Given the description of an element on the screen output the (x, y) to click on. 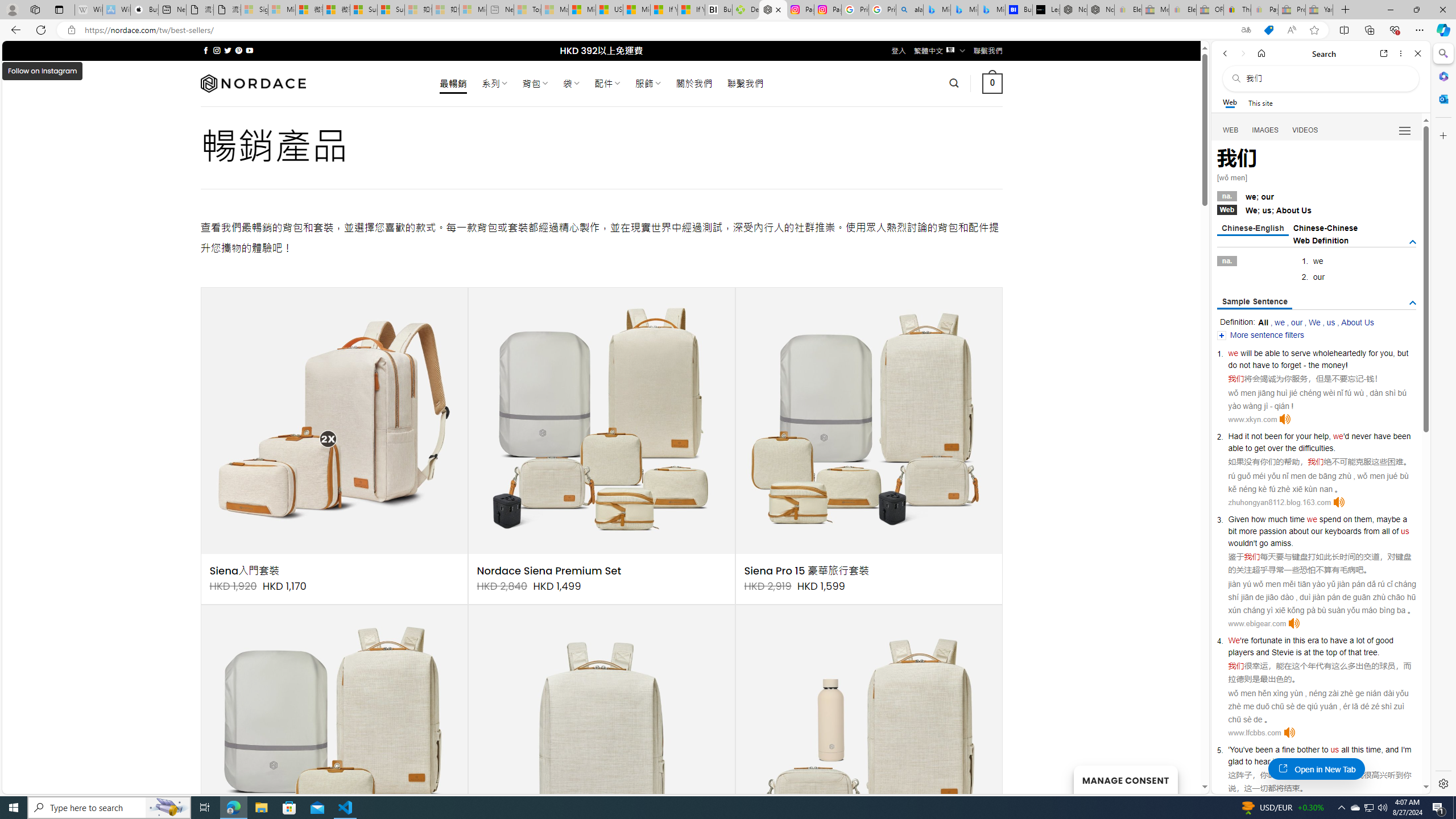
  0   (992, 83)
